Given the description of an element on the screen output the (x, y) to click on. 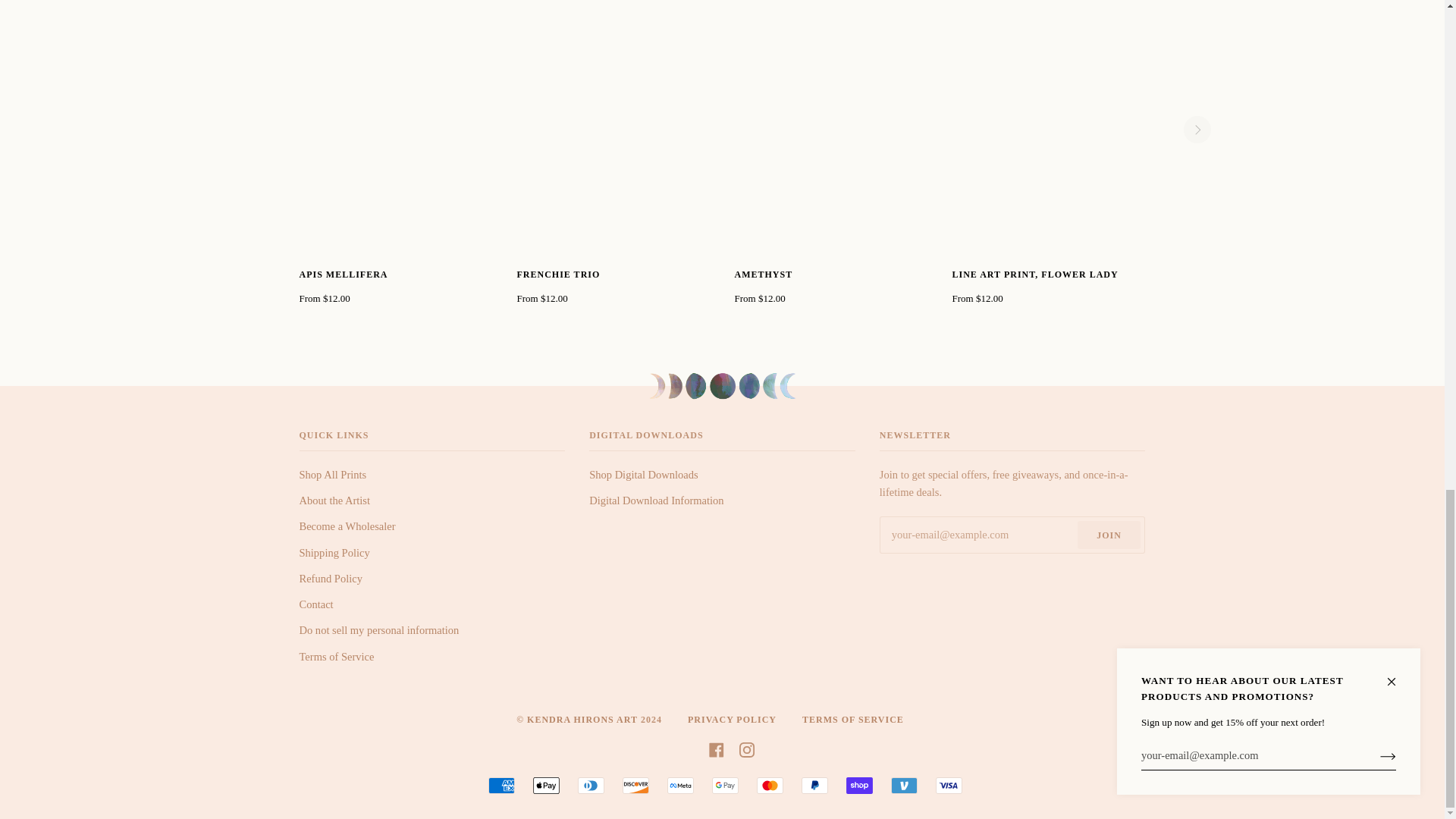
SHOP PAY (858, 785)
DISCOVER (636, 785)
META PAY (680, 785)
GOOGLE PAY (724, 785)
AMERICAN EXPRESS (501, 785)
MASTERCARD (770, 785)
Instagram (746, 748)
PAYPAL (815, 785)
Facebook (715, 748)
DINERS CLUB (591, 785)
